Given the description of an element on the screen output the (x, y) to click on. 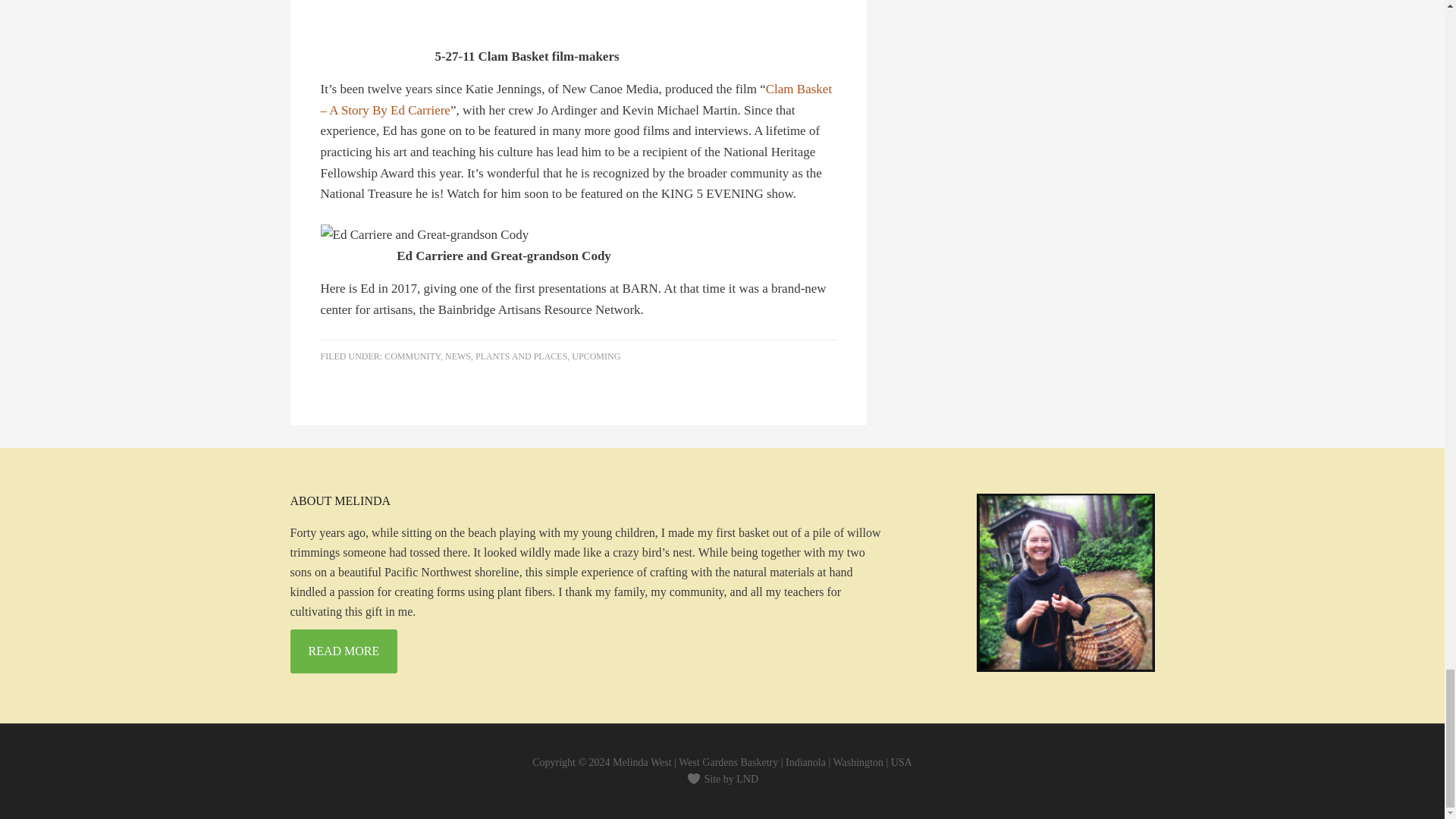
PLANTS AND PLACES (521, 356)
COMMUNITY (412, 356)
UPCOMING (596, 356)
NEWS (457, 356)
